Given the description of an element on the screen output the (x, y) to click on. 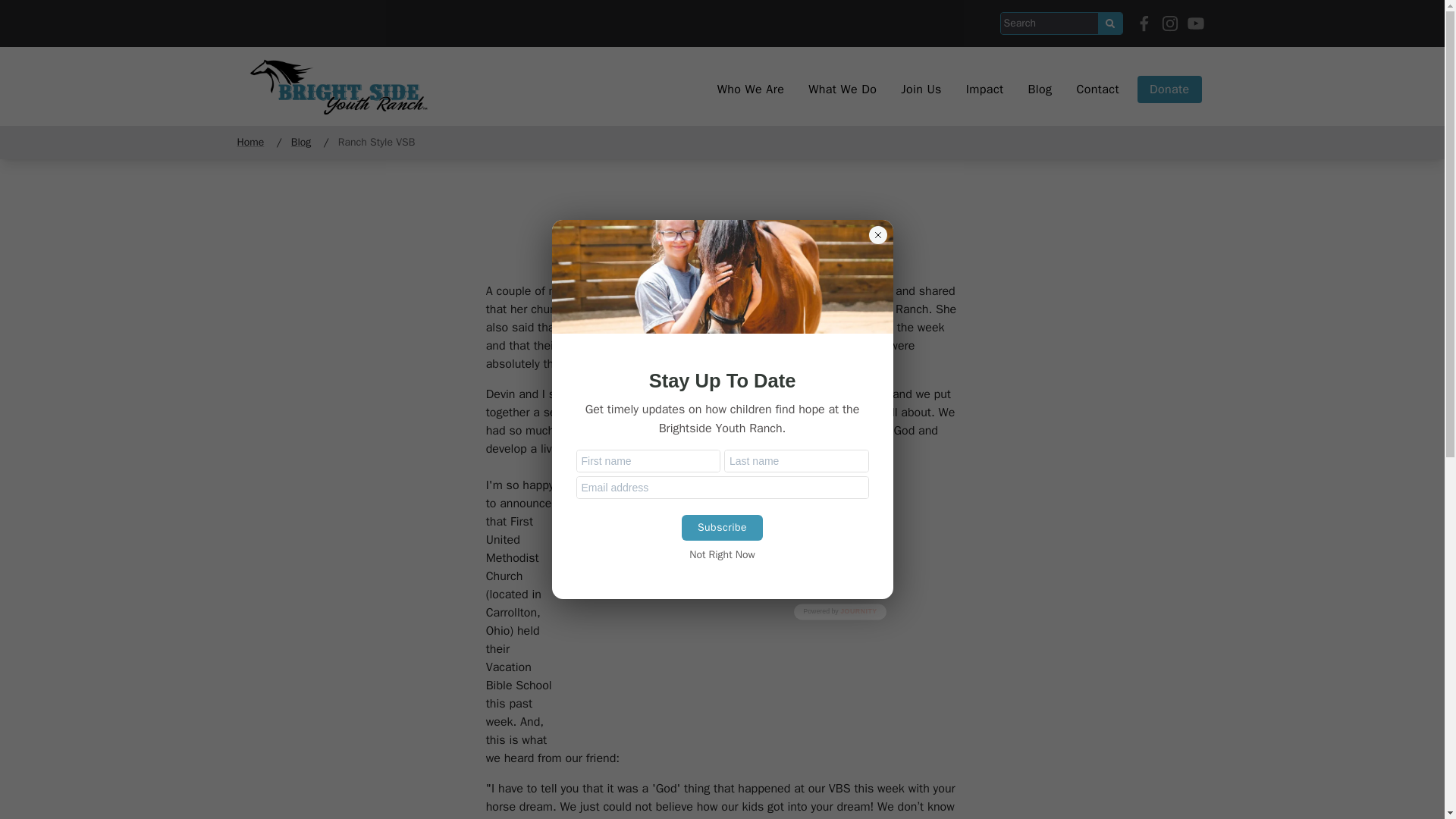
Blog (301, 141)
Home (252, 141)
Contact (1097, 89)
Impact (984, 89)
JOURNITY (858, 611)
Join Us (920, 89)
Home (339, 89)
Blog (1039, 89)
What We Do (842, 89)
Who We Are (750, 89)
Donate (1169, 89)
Subscribe (721, 527)
Not Right Now (721, 555)
